Given the description of an element on the screen output the (x, y) to click on. 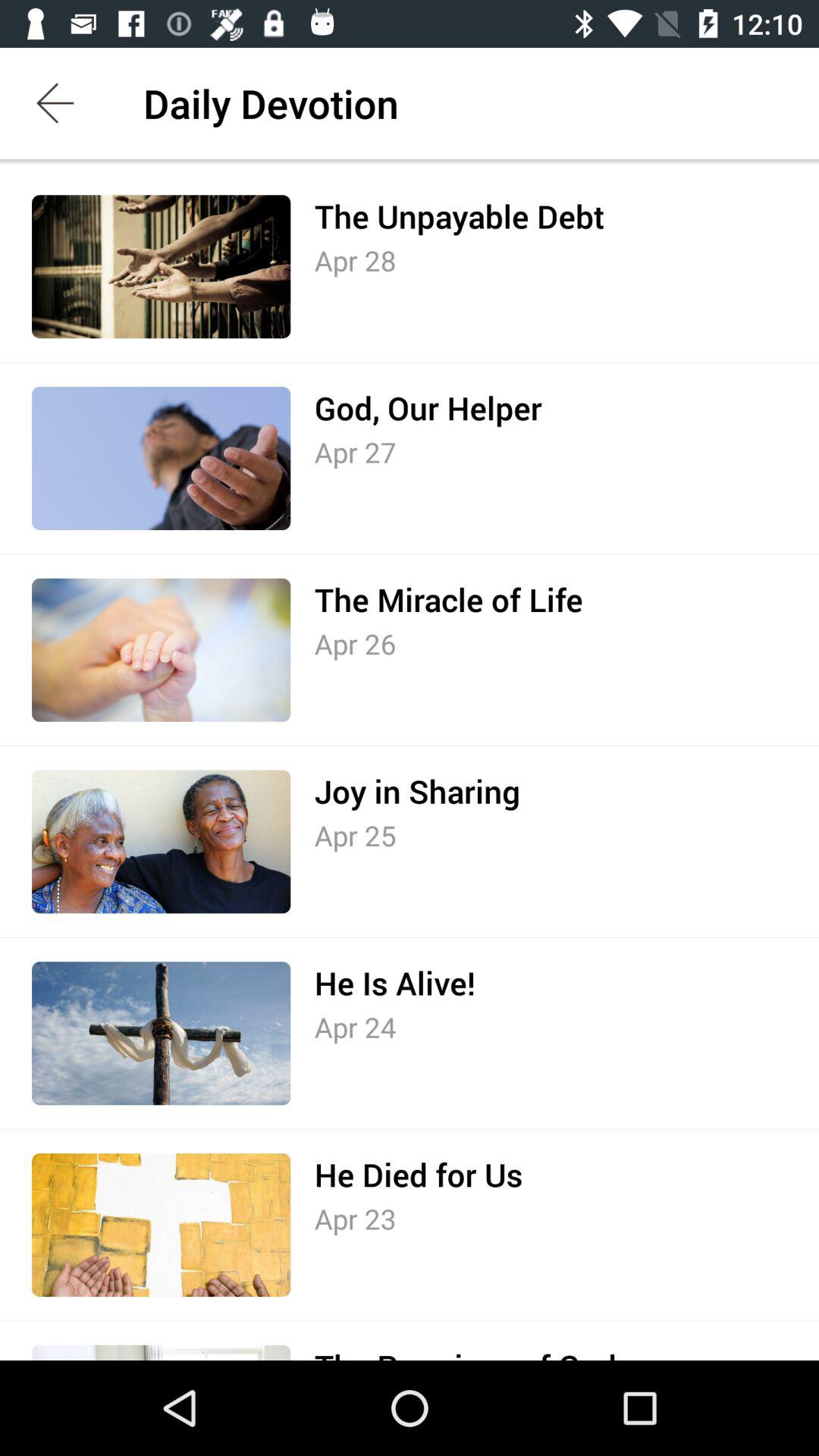
tap apr 25 item (355, 835)
